Given the description of an element on the screen output the (x, y) to click on. 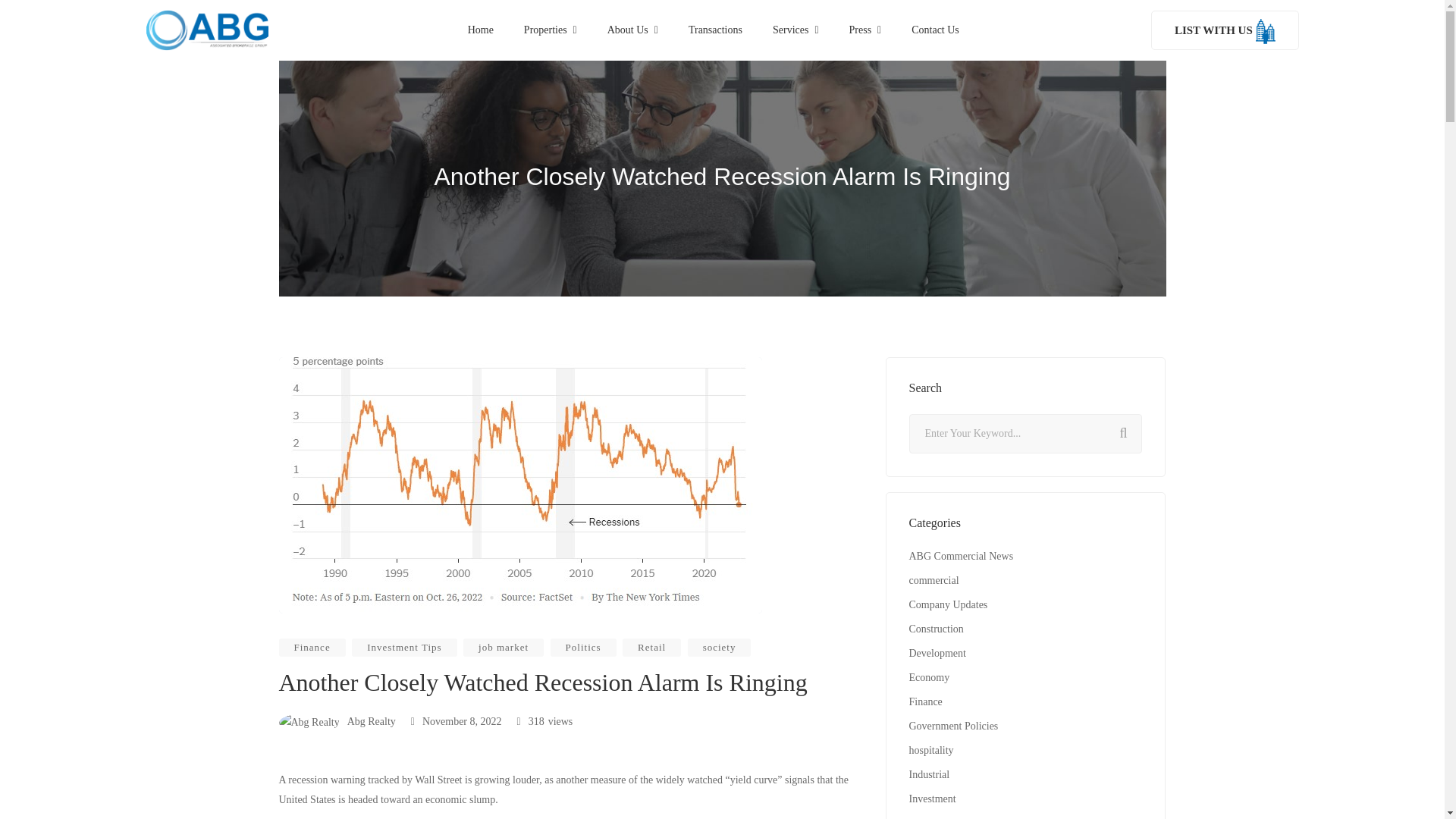
List With US (1224, 29)
Politics (582, 647)
Abg Realty (337, 721)
job market (503, 647)
society (719, 647)
LIST WITH US (1224, 29)
Retail (652, 647)
ABG Commercial Realty-Boston Commercial Real Estate News (206, 29)
Another Closely Watched Recession Alarm Is Ringing (456, 721)
Investment Tips (404, 647)
